Given the description of an element on the screen output the (x, y) to click on. 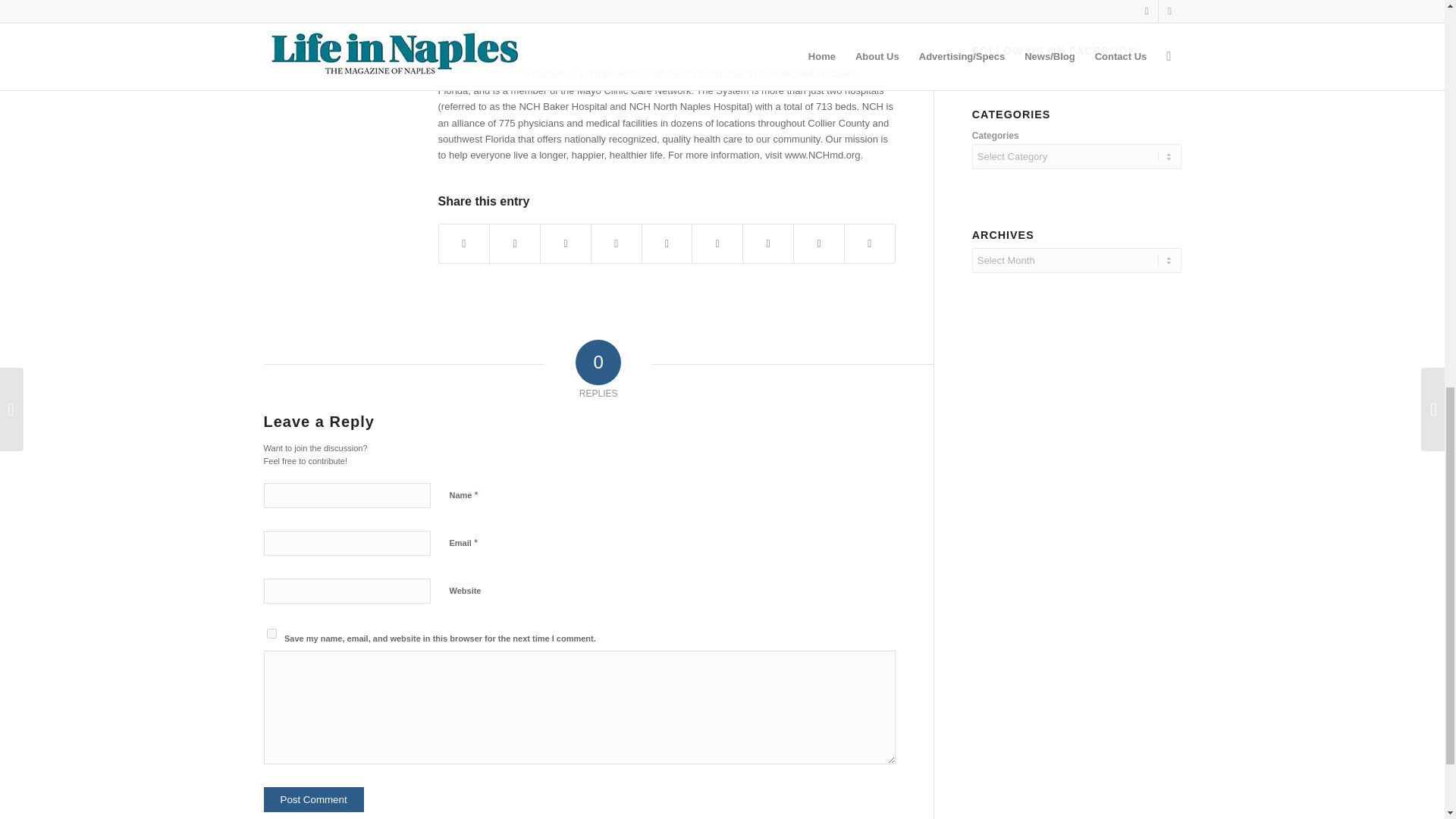
Post Comment (313, 799)
yes (271, 633)
Post Comment (313, 799)
